Given the description of an element on the screen output the (x, y) to click on. 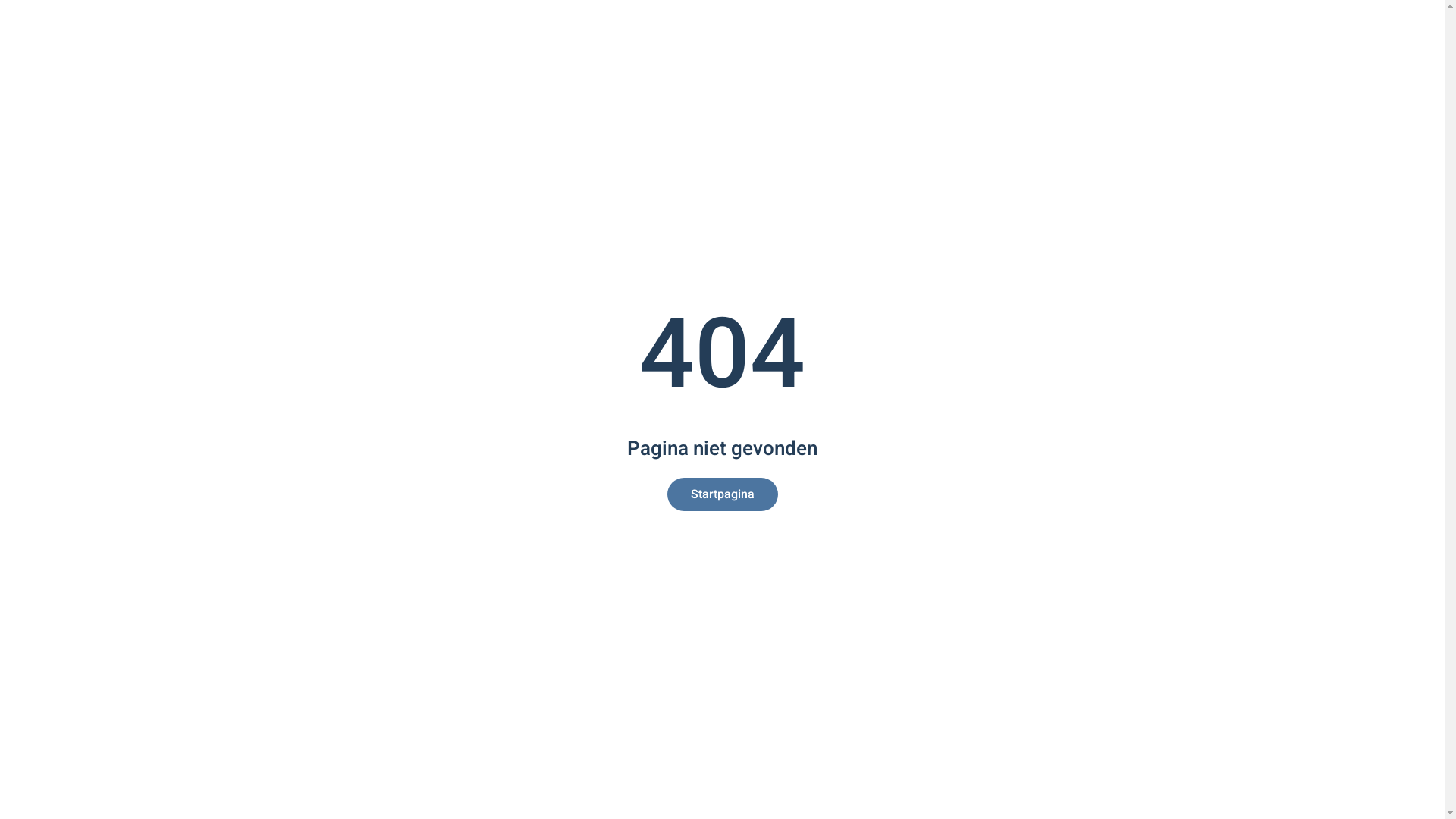
Startpagina Element type: text (722, 494)
